Given the description of an element on the screen output the (x, y) to click on. 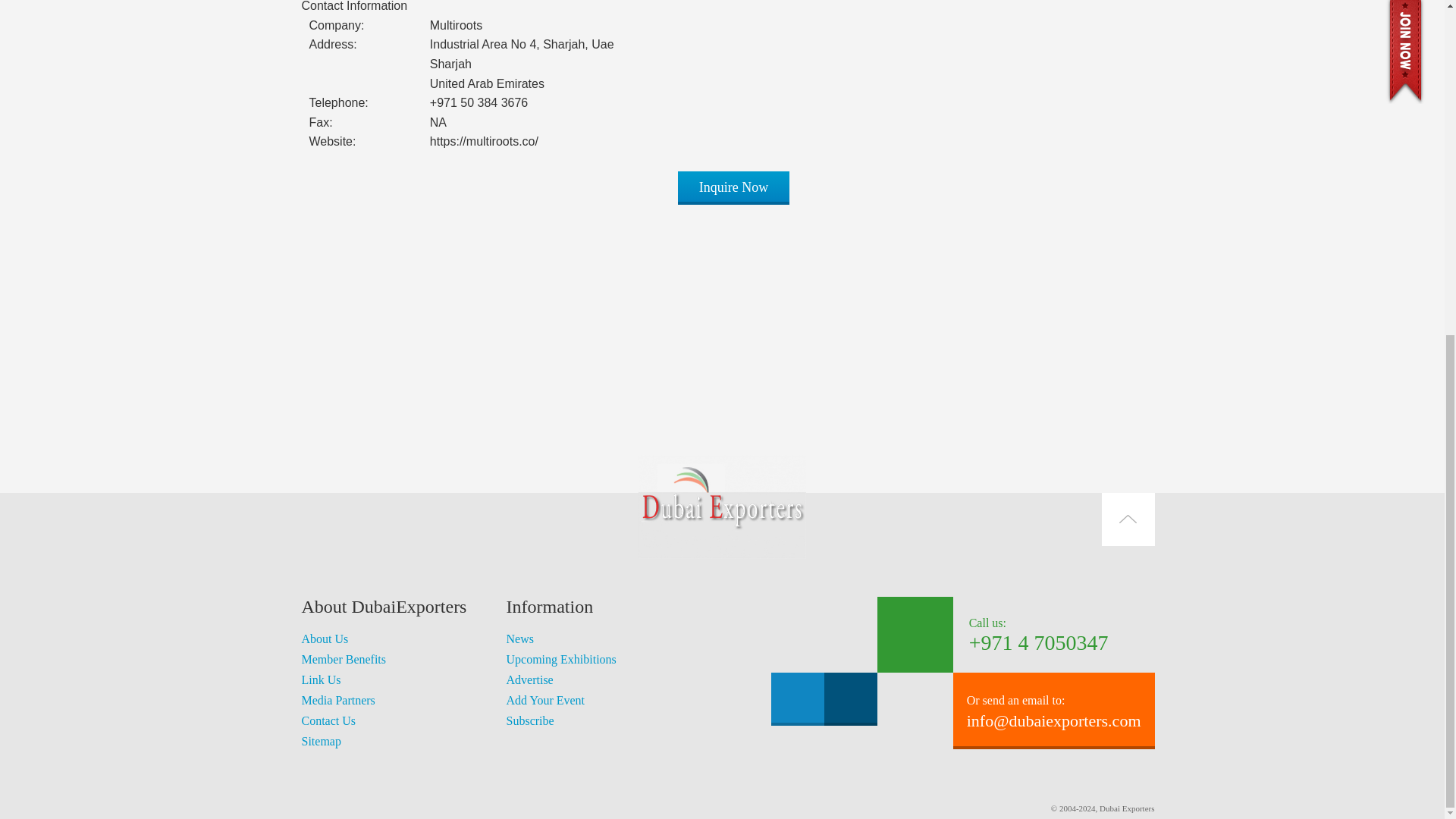
Inquire Now (733, 186)
Advertise (529, 679)
Member Benefits (344, 658)
Contact Us (328, 720)
Media Partners (338, 699)
Link Us (320, 679)
Add Your Event (545, 699)
News (520, 638)
Sitemap (320, 740)
Upcoming Exhibitions (560, 658)
About Us (325, 638)
Subscribe (530, 720)
